Given the description of an element on the screen output the (x, y) to click on. 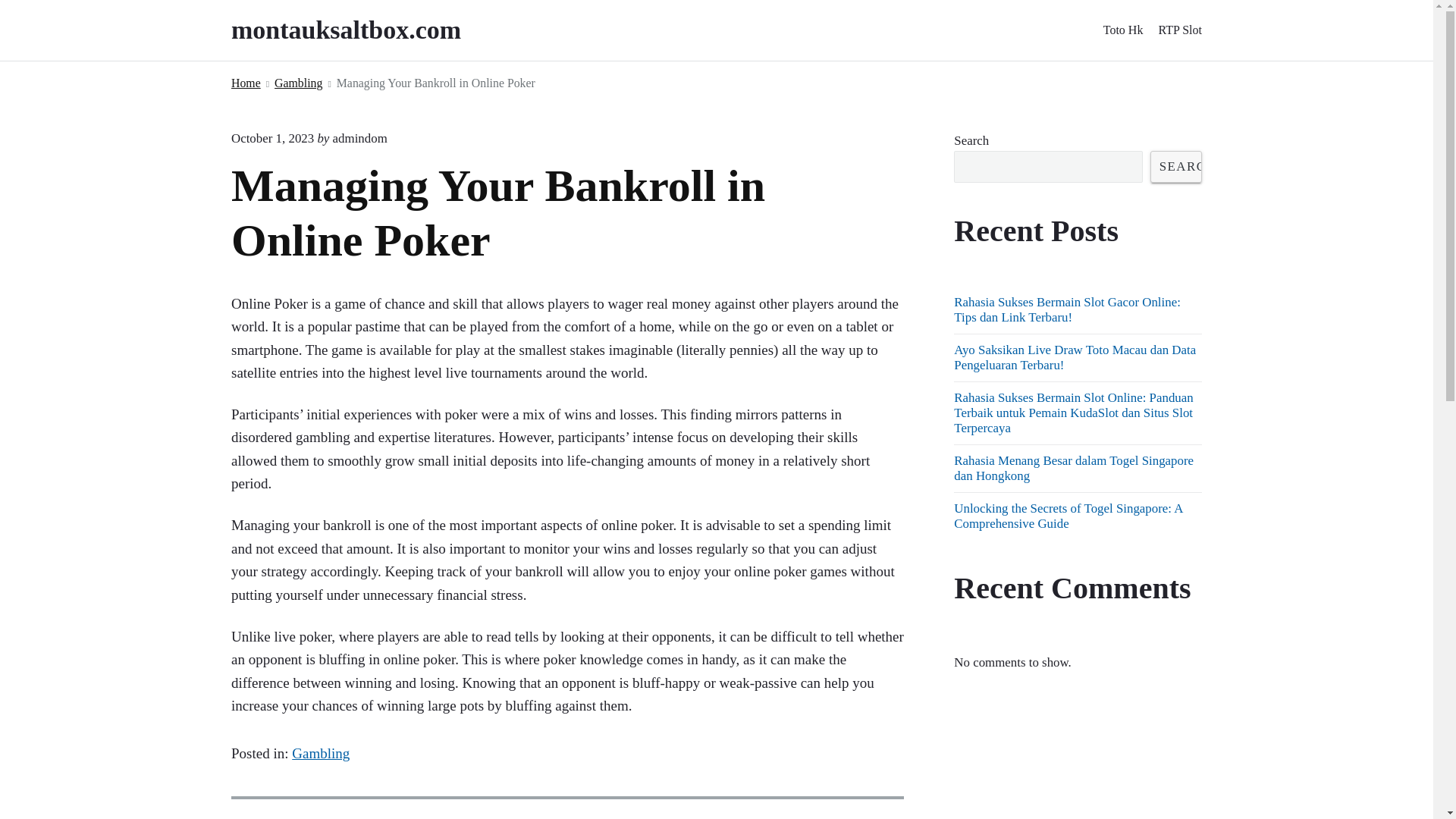
admindom (360, 138)
Rahasia Menang Besar dalam Togel Singapore dan Hongkong (1073, 468)
Gambling (298, 82)
Gambling (320, 753)
RTP Slot (1179, 30)
montauksaltbox.com (366, 30)
Home (245, 82)
Toto Hk (1122, 30)
SEARCH (1176, 166)
Sunday, October 1, 2023, 6:09 pm (272, 138)
Posts by admindom (360, 138)
